Given the description of an element on the screen output the (x, y) to click on. 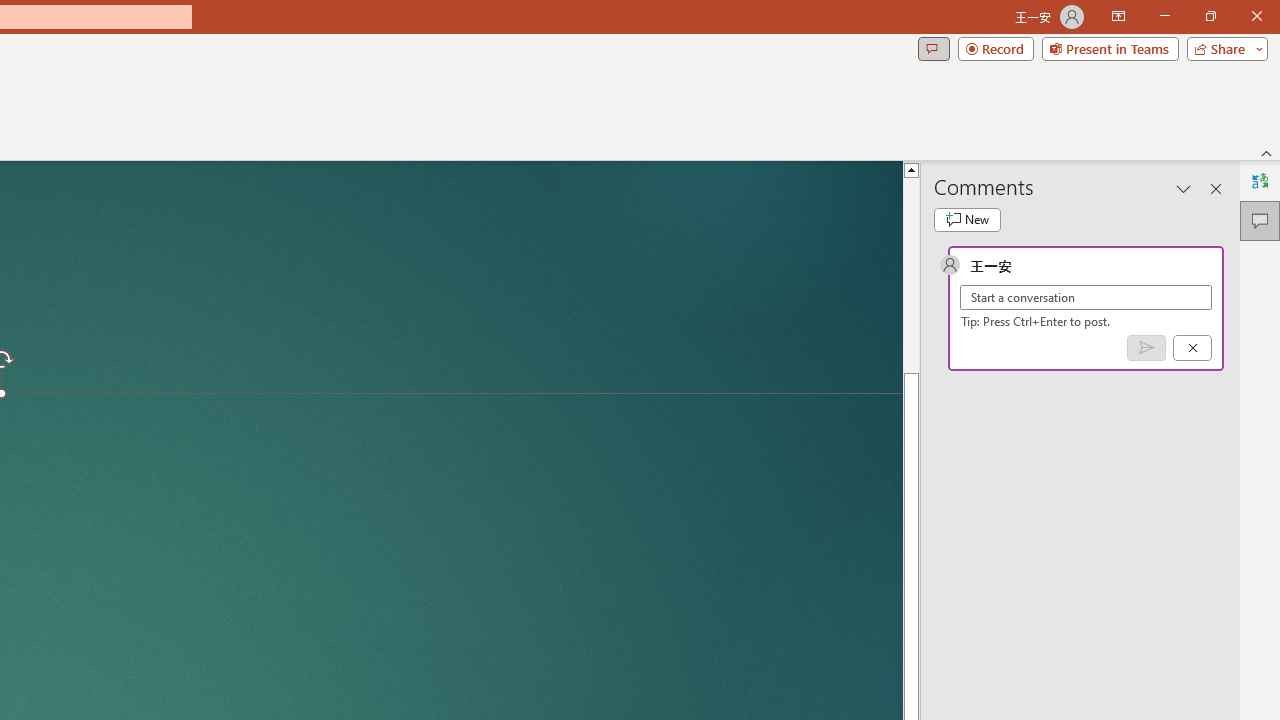
Post comment (Ctrl + Enter) (1146, 347)
Start a conversation (1085, 297)
New comment (967, 219)
